Given the description of an element on the screen output the (x, y) to click on. 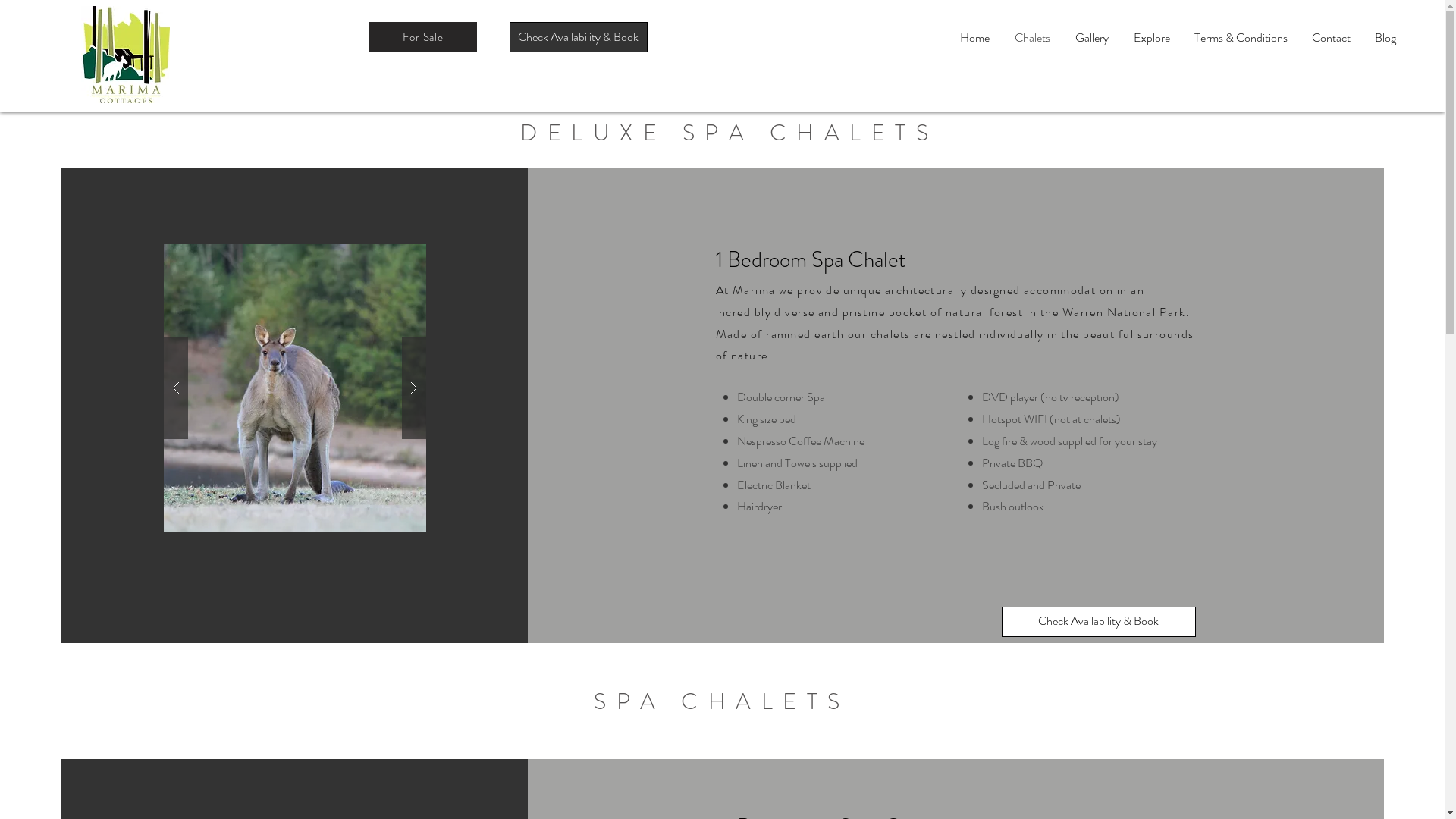
Contact Element type: text (1330, 37)
For Sale Element type: text (422, 36)
Home Element type: text (974, 37)
Blog Element type: text (1385, 37)
Explore Element type: text (1151, 37)
Gallery Element type: text (1091, 37)
Check Availability & Book Element type: text (578, 36)
Chalets Element type: text (1031, 37)
Terms & Conditions Element type: text (1240, 37)
Check Availability & Book Element type: text (1098, 621)
